Given the description of an element on the screen output the (x, y) to click on. 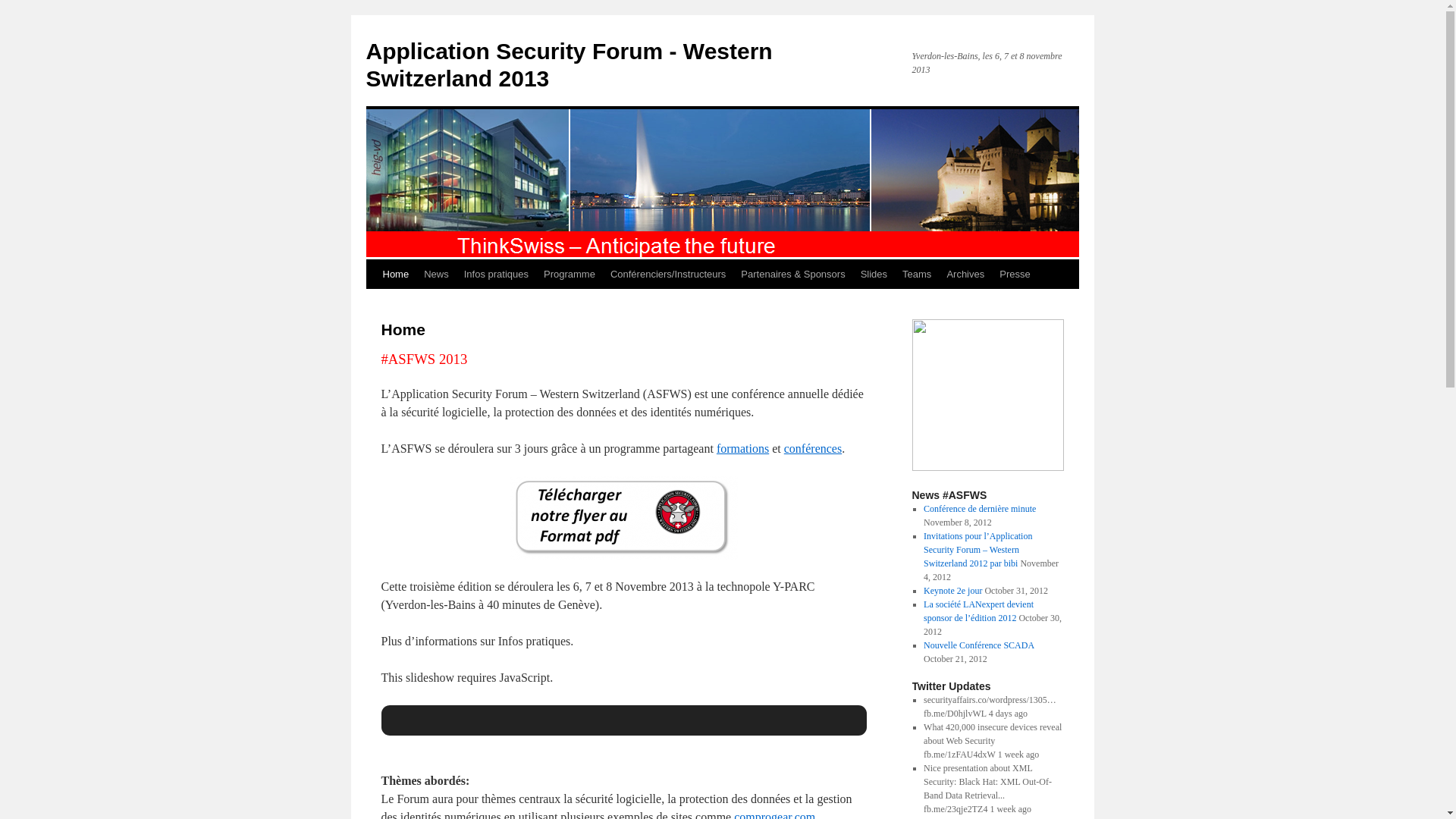
Programme Element type: text (569, 274)
Home Element type: text (395, 274)
Keynote 2e jour Element type: text (952, 590)
Application Security Forum - Western Switzerland 2013 Element type: text (568, 64)
Archives Element type: text (964, 274)
Infos pratiques Element type: text (496, 274)
formations Element type: text (742, 448)
News Element type: text (436, 274)
Partenaires & Sponsors Element type: text (792, 274)
Teams Element type: text (916, 274)
flyer Element type: hover (623, 517)
Slides Element type: text (873, 274)
Presse Element type: text (1014, 274)
